Given the description of an element on the screen output the (x, y) to click on. 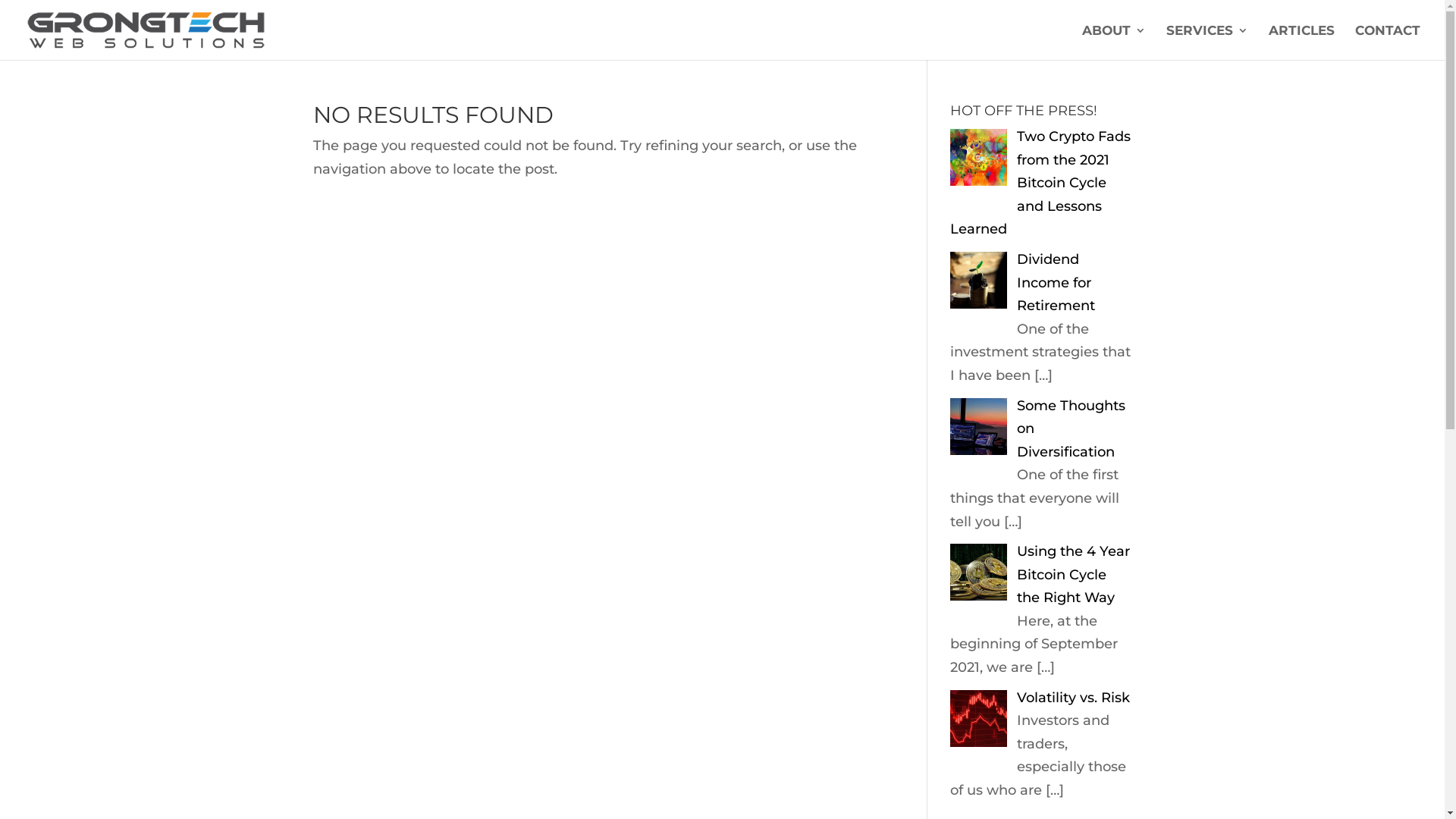
CONTACT Element type: text (1387, 41)
ABOUT Element type: text (1113, 41)
ARTICLES Element type: text (1301, 41)
Using the 4 Year Bitcoin Cycle the Right Way Element type: text (1072, 573)
Some Thoughts on Diversification Element type: text (1070, 428)
Dividend Income for Retirement Element type: text (1055, 282)
SERVICES Element type: text (1207, 41)
Volatility vs. Risk Element type: text (1072, 697)
